Given the description of an element on the screen output the (x, y) to click on. 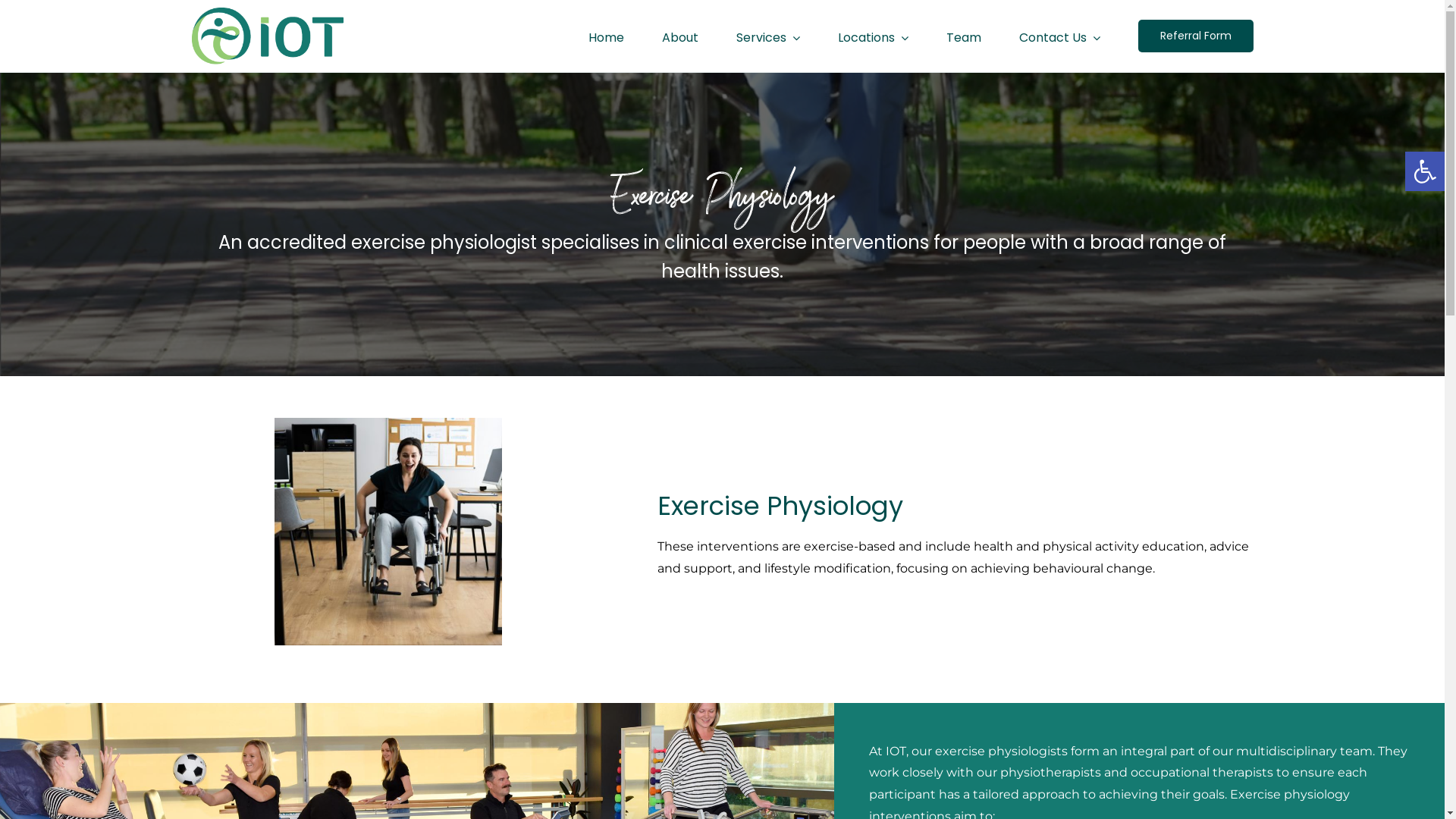
Disabled Handicapped Businesswoman In Wheelchair At Work Element type: hover (388, 531)
Contact Us Element type: text (1059, 36)
About Element type: text (679, 36)
Services Element type: text (767, 36)
Home Element type: text (606, 36)
Locations Element type: text (872, 36)
Team Element type: text (963, 36)
Open toolbar
Accessibility Tools Element type: text (1424, 171)
Referral Form Element type: text (1194, 36)
